Given the description of an element on the screen output the (x, y) to click on. 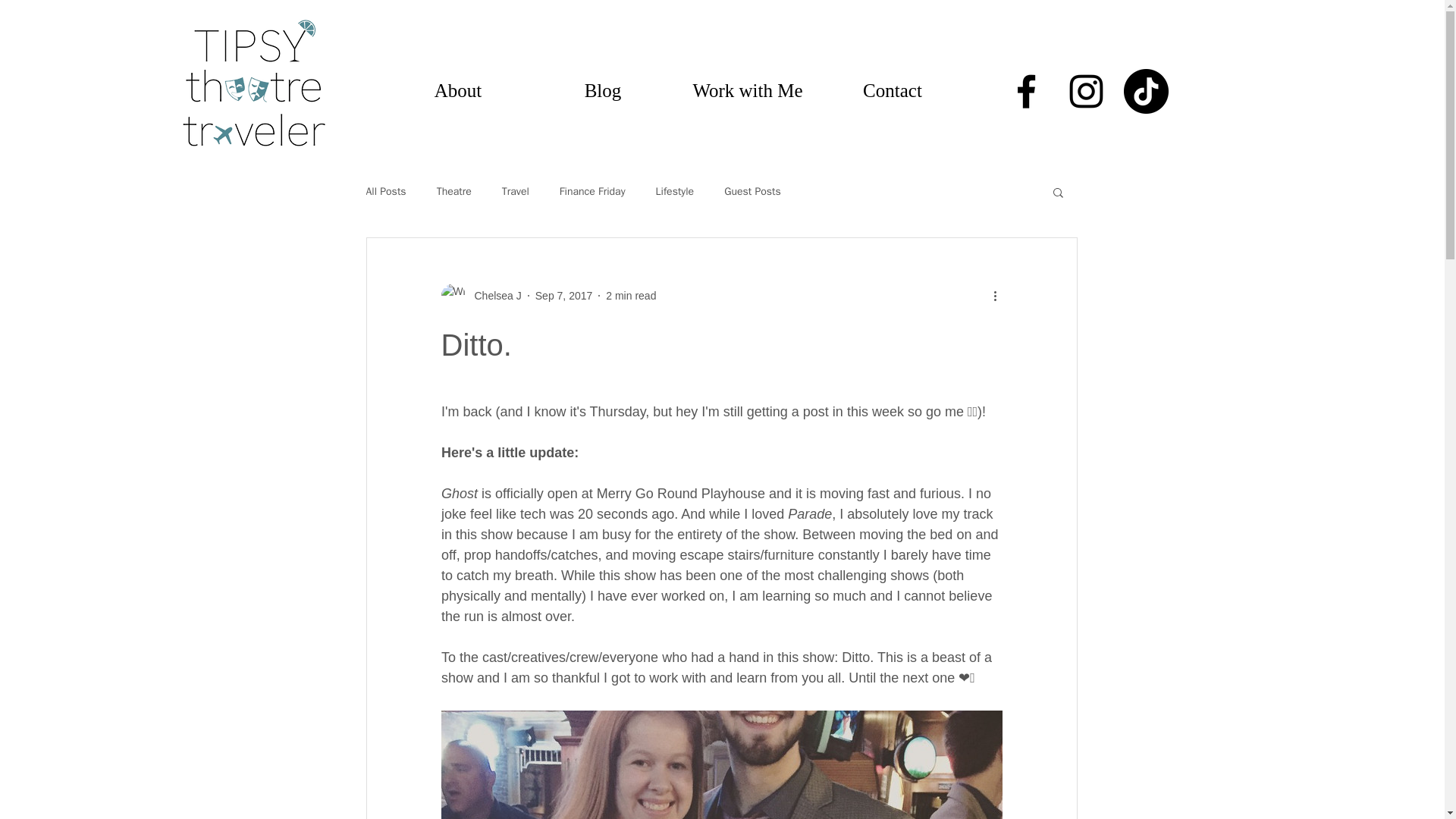
About (457, 90)
Travel (515, 192)
Guest Posts (751, 192)
Sep 7, 2017 (563, 295)
Chelsea J (493, 295)
Finance Friday (592, 192)
Contact (893, 90)
2 min read (630, 295)
Theatre (453, 192)
All Posts (385, 192)
Blog (603, 90)
Lifestyle (675, 192)
Work with Me (747, 90)
